Given the description of an element on the screen output the (x, y) to click on. 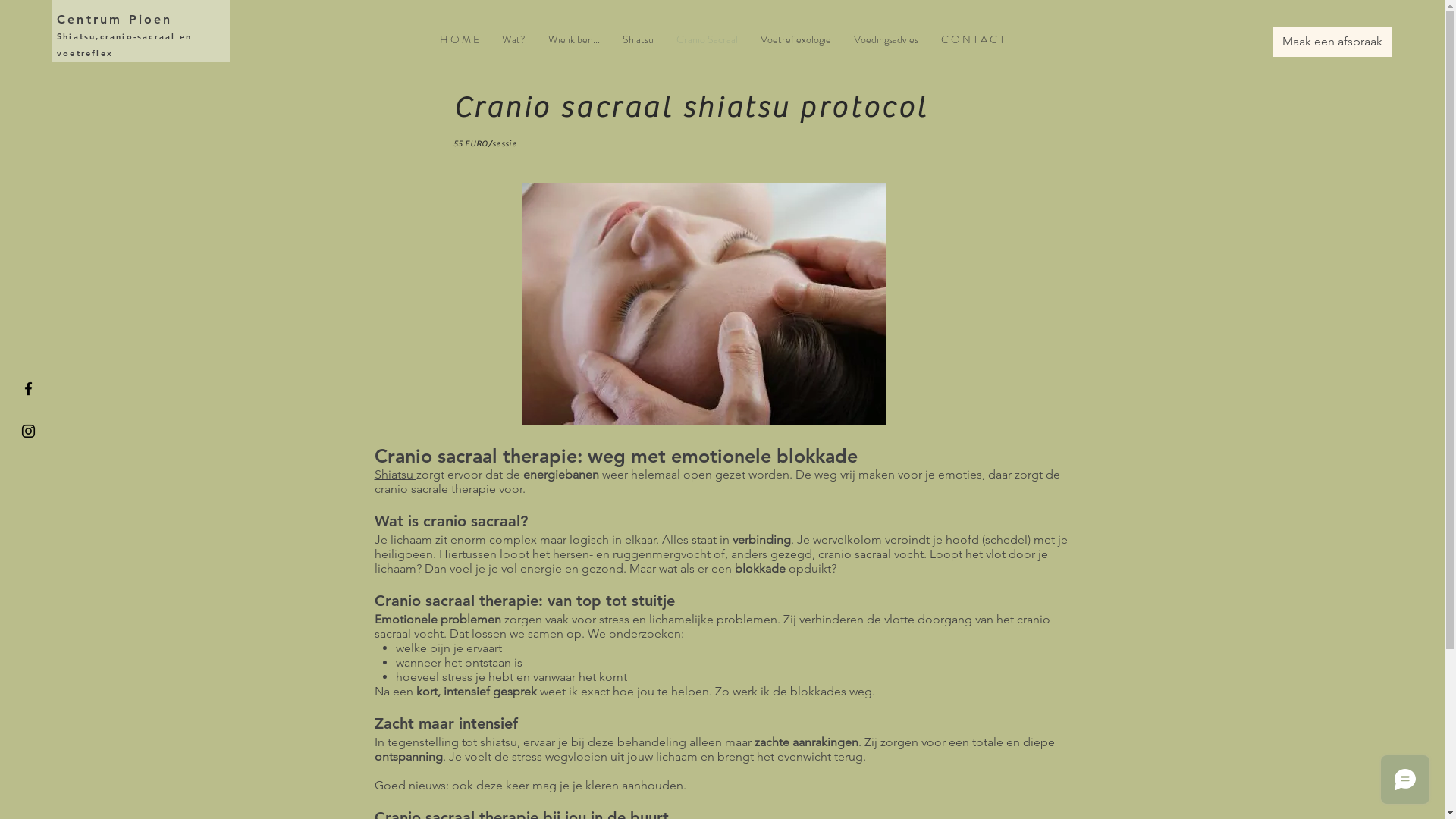
Wie ik ben... Element type: text (573, 39)
C O N T A C T Element type: text (972, 39)
Voedingsadvies Element type: text (885, 39)
Shiatsu Element type: text (638, 39)
Wat? Element type: text (513, 39)
Voetreflexologie Element type: text (795, 39)
Centrum Pioen Element type: text (114, 19)
Cranio Sacraal Element type: text (707, 39)
Shiatsu Element type: text (395, 474)
H O M E Element type: text (459, 39)
Maak een afspraak Element type: text (1332, 41)
